Given the description of an element on the screen output the (x, y) to click on. 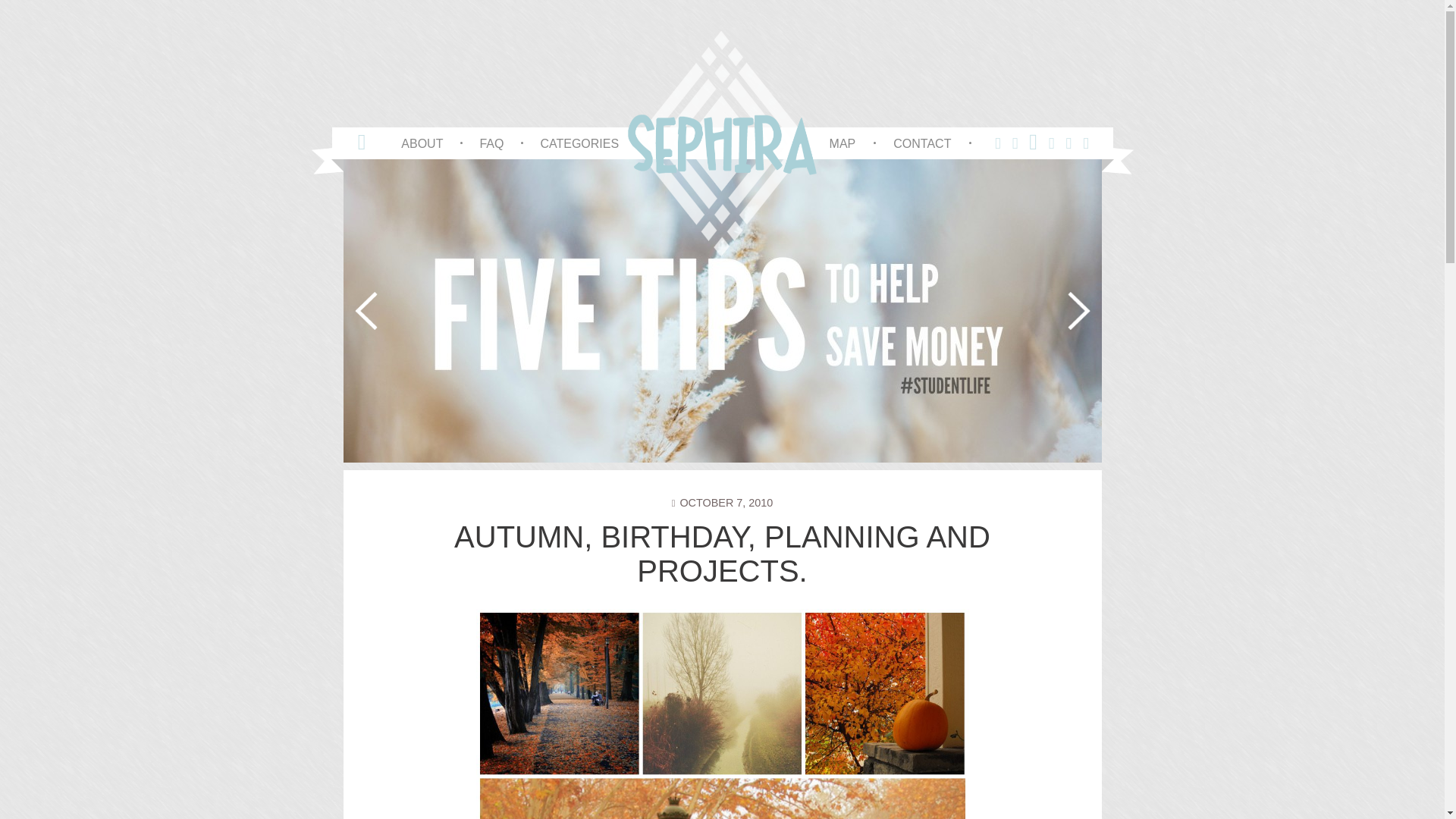
FAQ (491, 142)
Slide for a whole new quiet world (171, 310)
CONTACT (922, 142)
ABOUT (421, 142)
AUTUMN, BIRTHDAY, PLANNING AND PROJECTS. (722, 554)
MAP (842, 142)
CATEGORIES (579, 142)
